Given the description of an element on the screen output the (x, y) to click on. 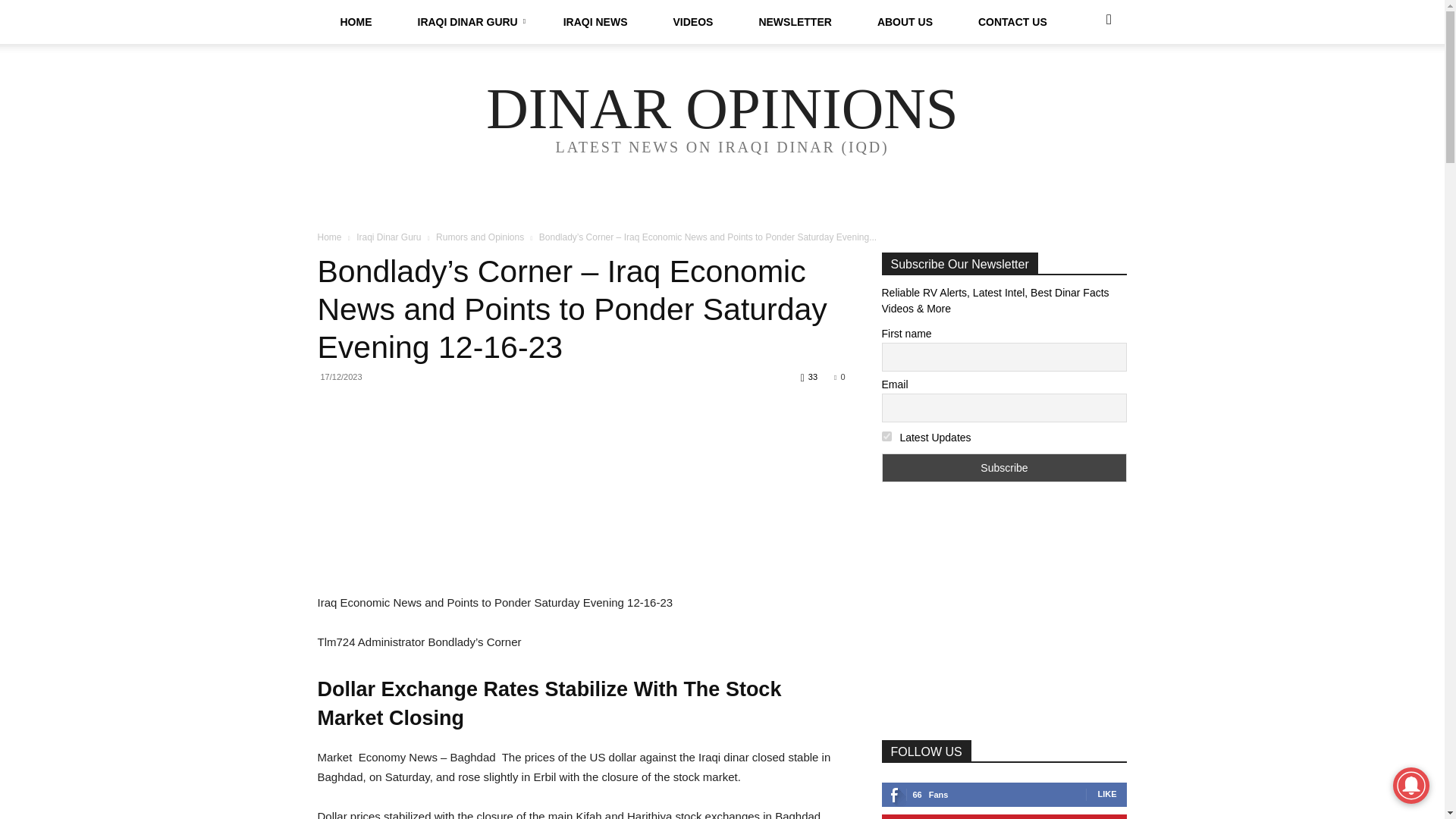
CONTACT US (1012, 22)
Subscribe (1003, 467)
IRAQI NEWS (595, 22)
ABOUT US (904, 22)
0 (839, 376)
View all posts in Rumors and Opinions (479, 236)
Rumors and Opinions (479, 236)
Advertisement (580, 521)
IRAQI DINAR GURU (467, 22)
1 (885, 436)
